Given the description of an element on the screen output the (x, y) to click on. 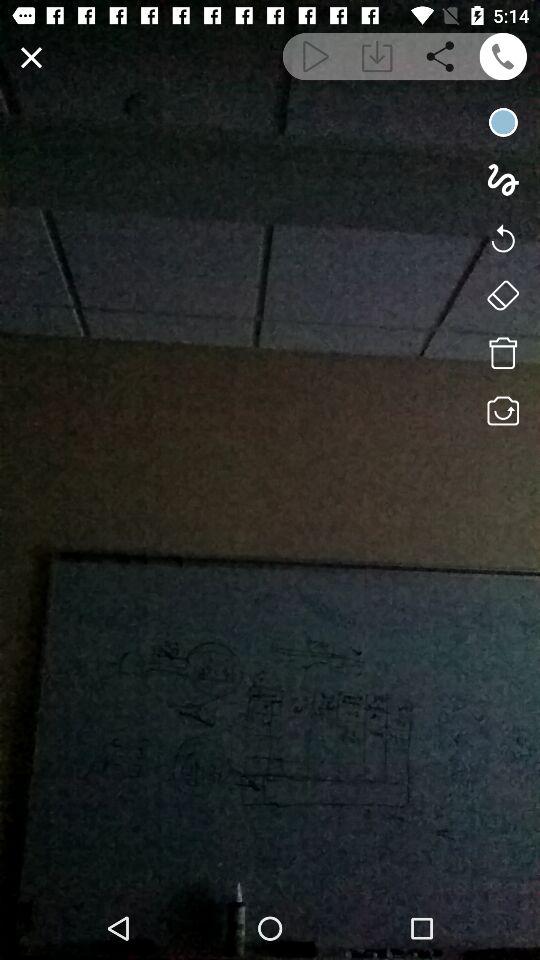
delete (502, 353)
